Given the description of an element on the screen output the (x, y) to click on. 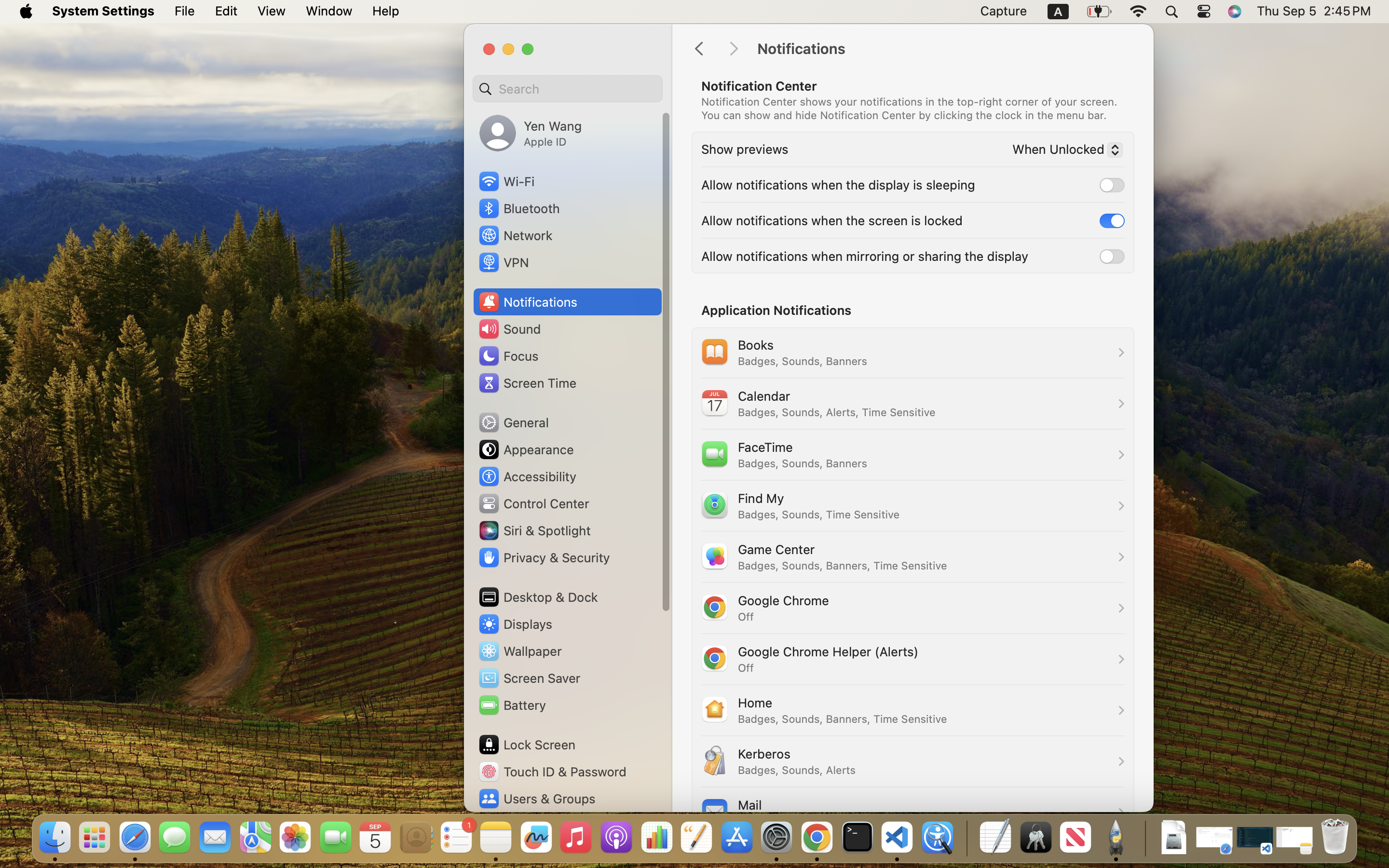
Wallpaper Element type: AXStaticText (519, 650)
